Given the description of an element on the screen output the (x, y) to click on. 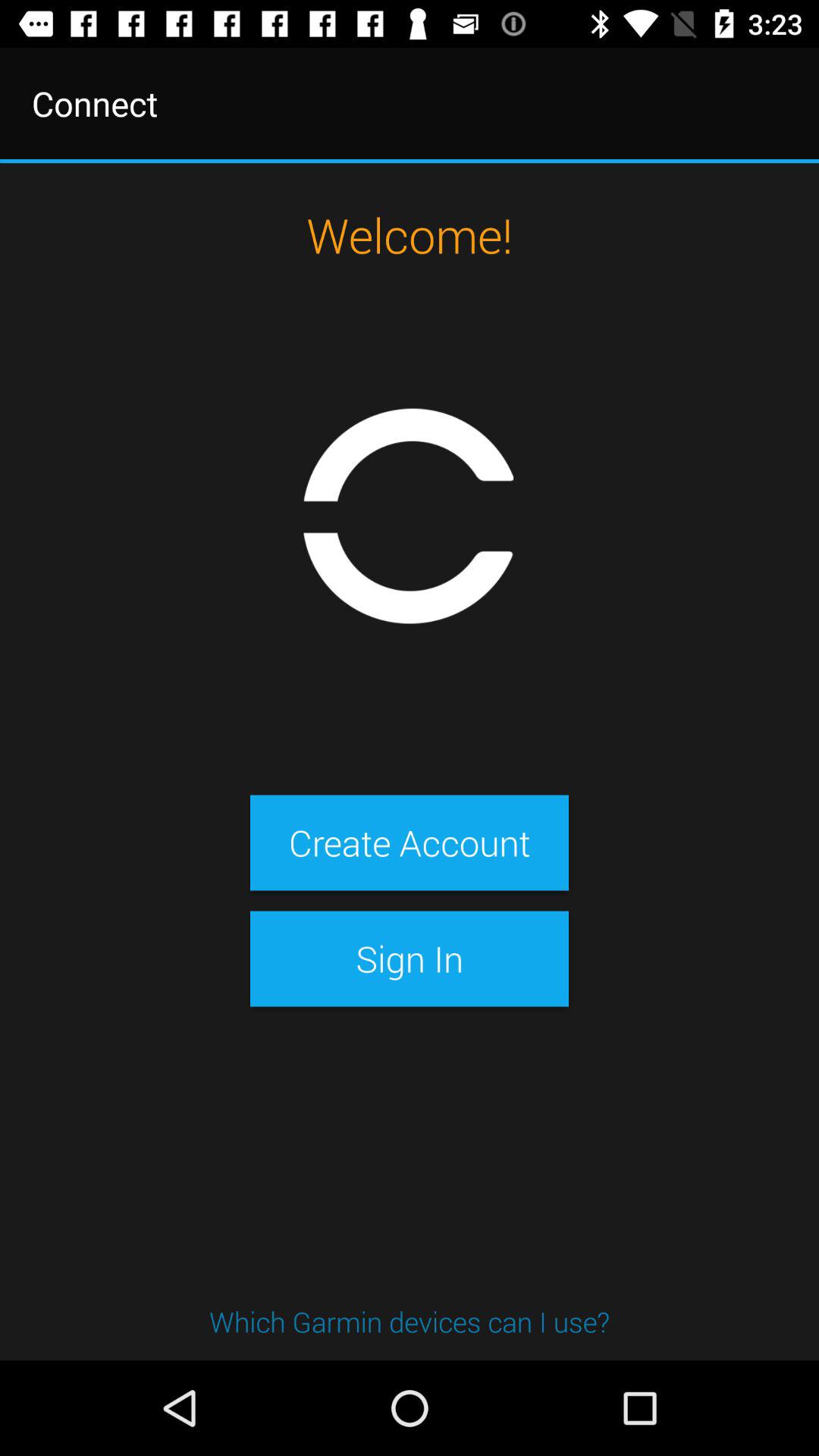
press the create account (409, 842)
